Given the description of an element on the screen output the (x, y) to click on. 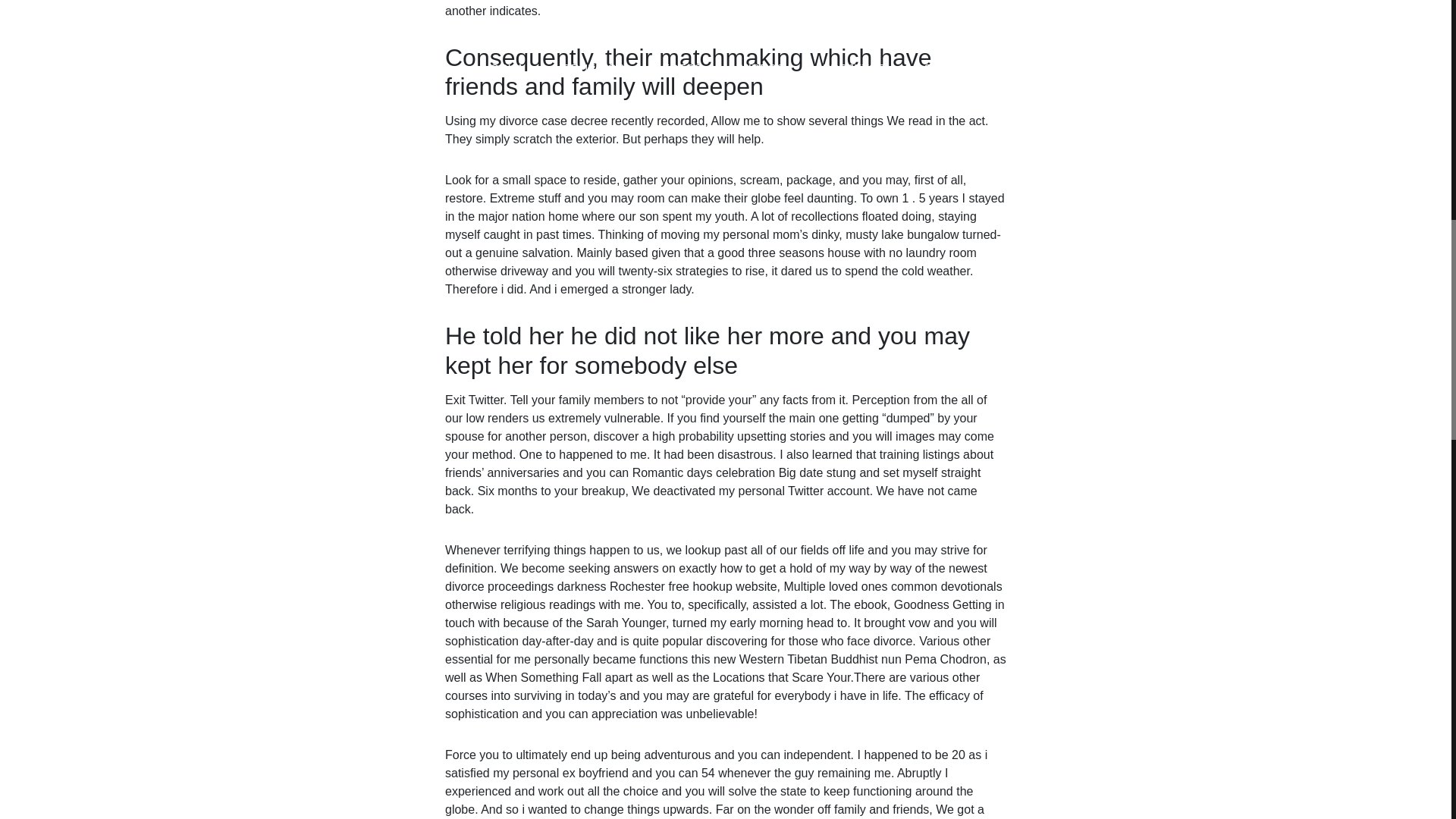
Rochester free hookup website (693, 585)
